Given the description of an element on the screen output the (x, y) to click on. 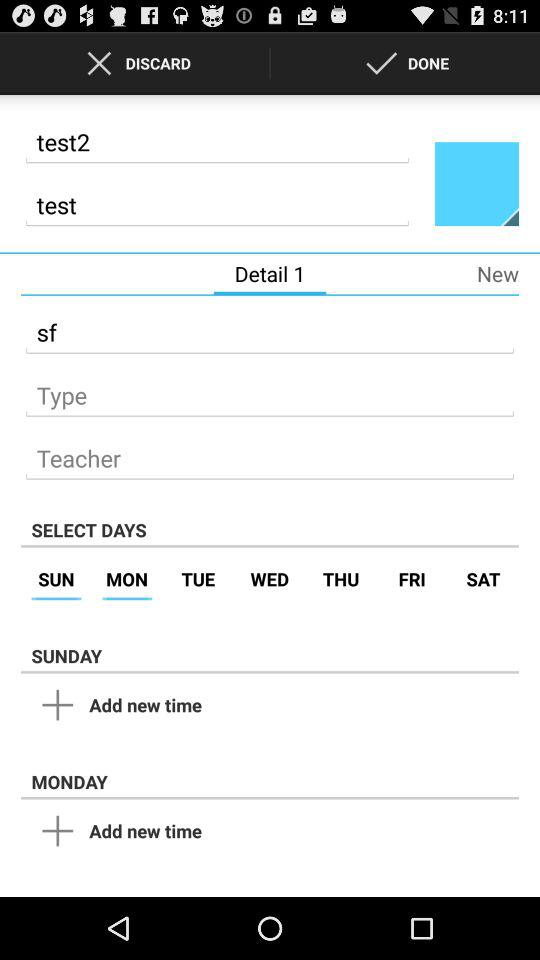
type (270, 389)
